Given the description of an element on the screen output the (x, y) to click on. 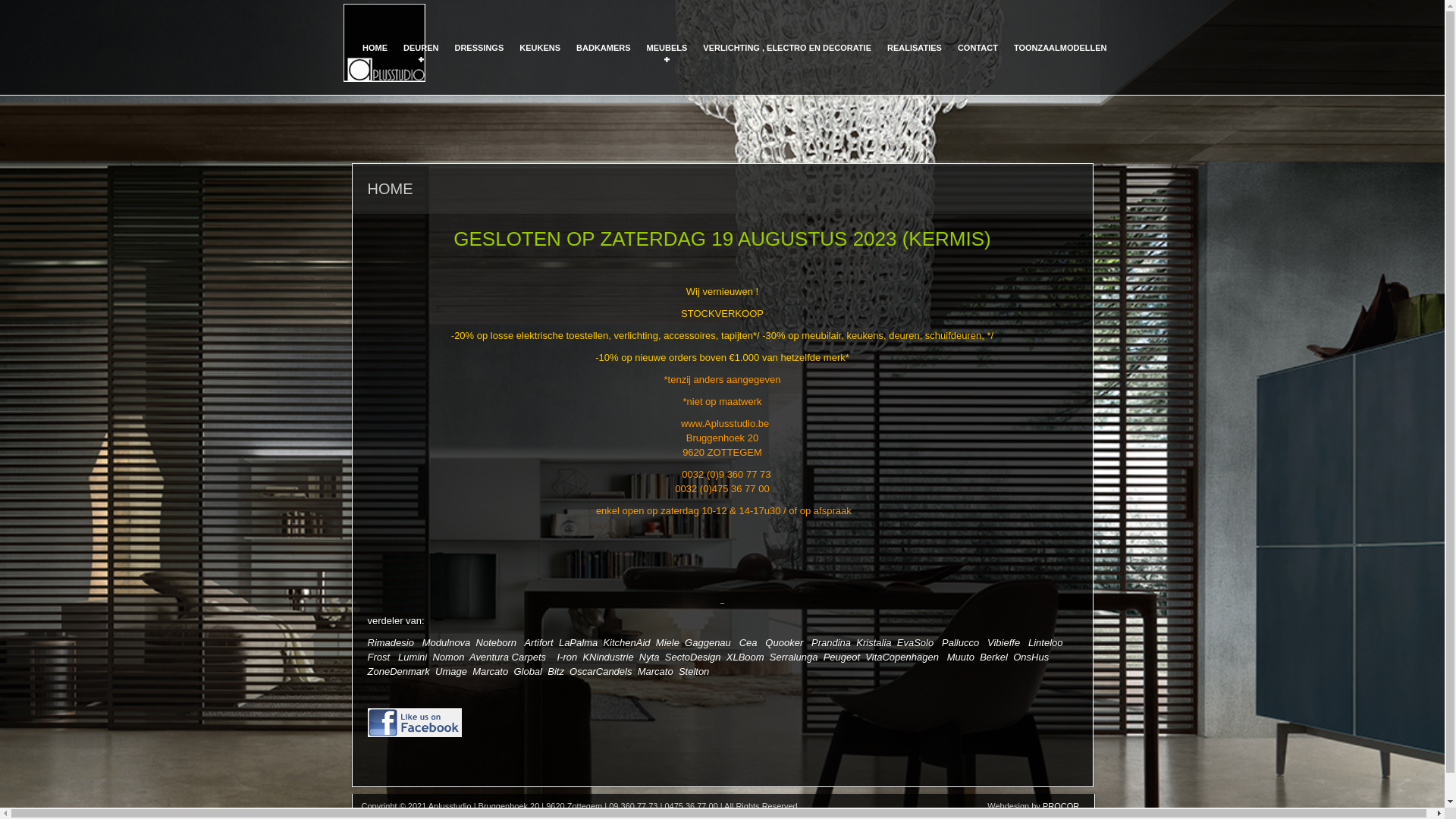
DEUREN Element type: text (420, 61)
Aplus Studio Zottegem Element type: hover (383, 43)
TOONZAALMODELLEN Element type: text (1060, 61)
PROCOR Element type: text (1060, 805)
REALISATIES Element type: text (914, 61)
DRESSINGS Element type: text (478, 61)
HOME Element type: text (374, 61)
VERLICHTING , ELECTRO EN DECORATIE Element type: text (786, 61)
KEUKENS Element type: text (539, 61)
BADKAMERS Element type: text (603, 61)
MEUBELS Element type: text (667, 61)
www.Aplusstudio.be Element type: text (724, 423)
CONTACT Element type: text (977, 61)
